Given the description of an element on the screen output the (x, y) to click on. 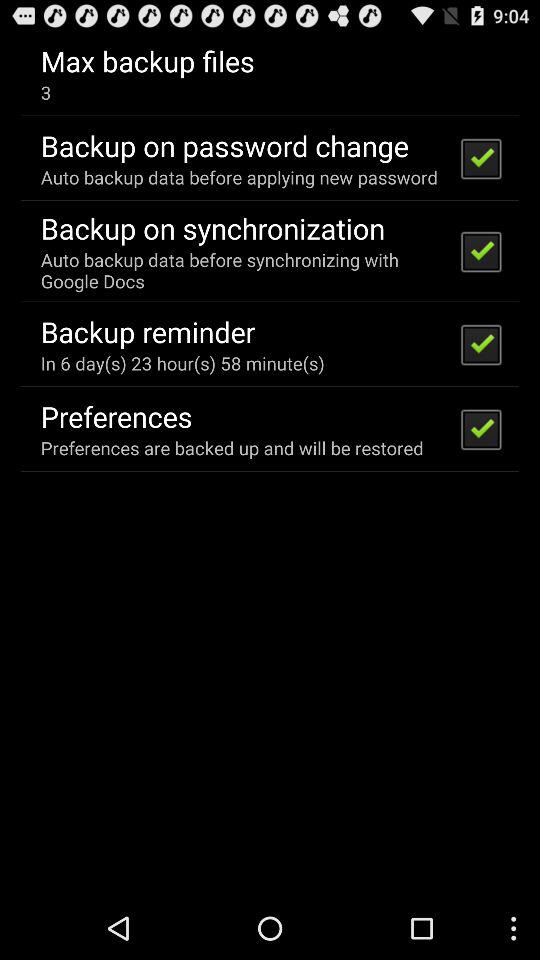
turn on icon below preferences (231, 447)
